Given the description of an element on the screen output the (x, y) to click on. 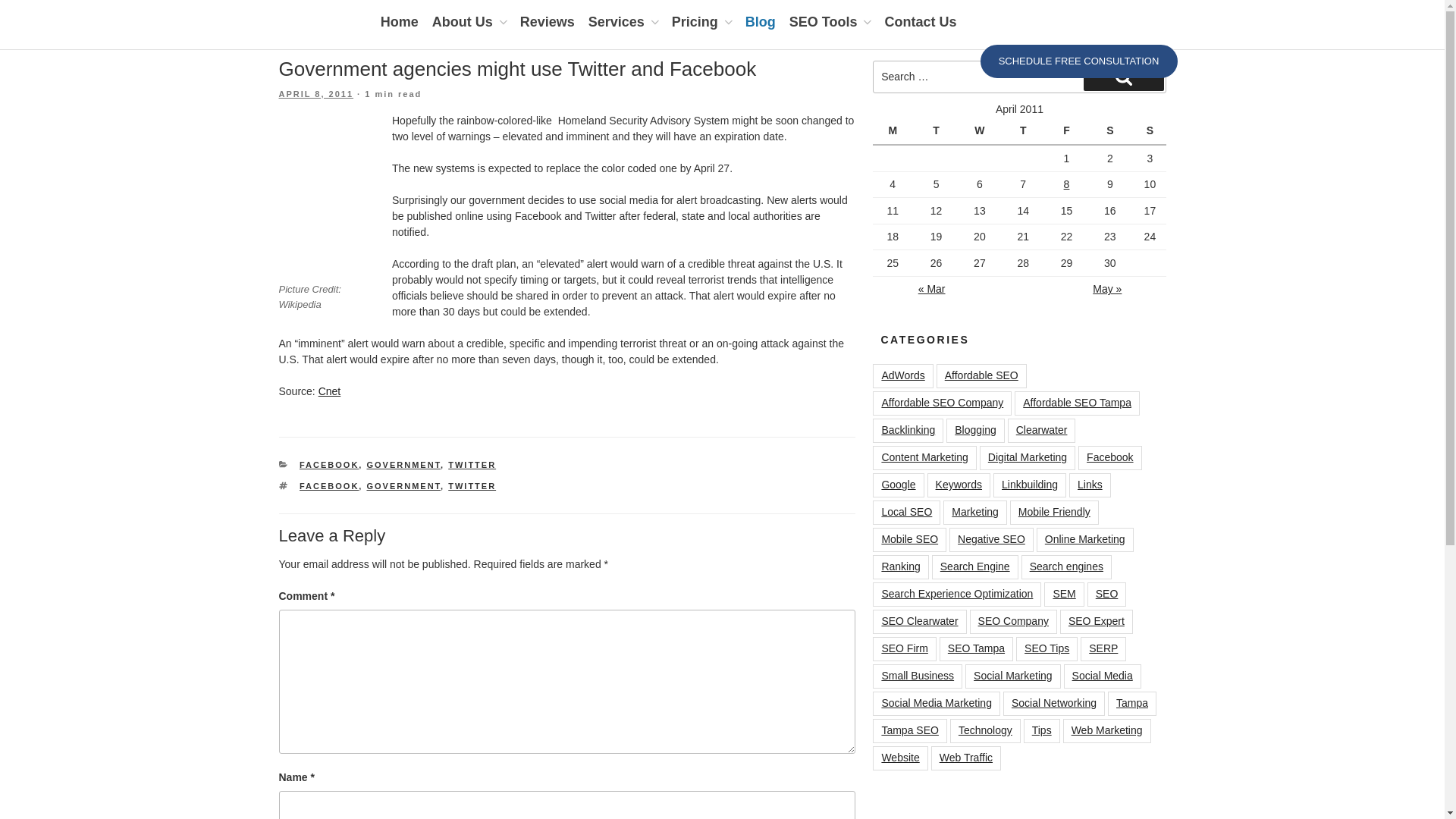
Services (622, 22)
Thursday (1024, 130)
Pricing (701, 22)
Home (399, 22)
Tuesday (938, 130)
Monday (893, 130)
Friday (1068, 130)
AFFORDABLE SEO COMPANY FOR SMALL BUSINESS (662, 91)
About Us (469, 22)
Reviews (546, 22)
